Given the description of an element on the screen output the (x, y) to click on. 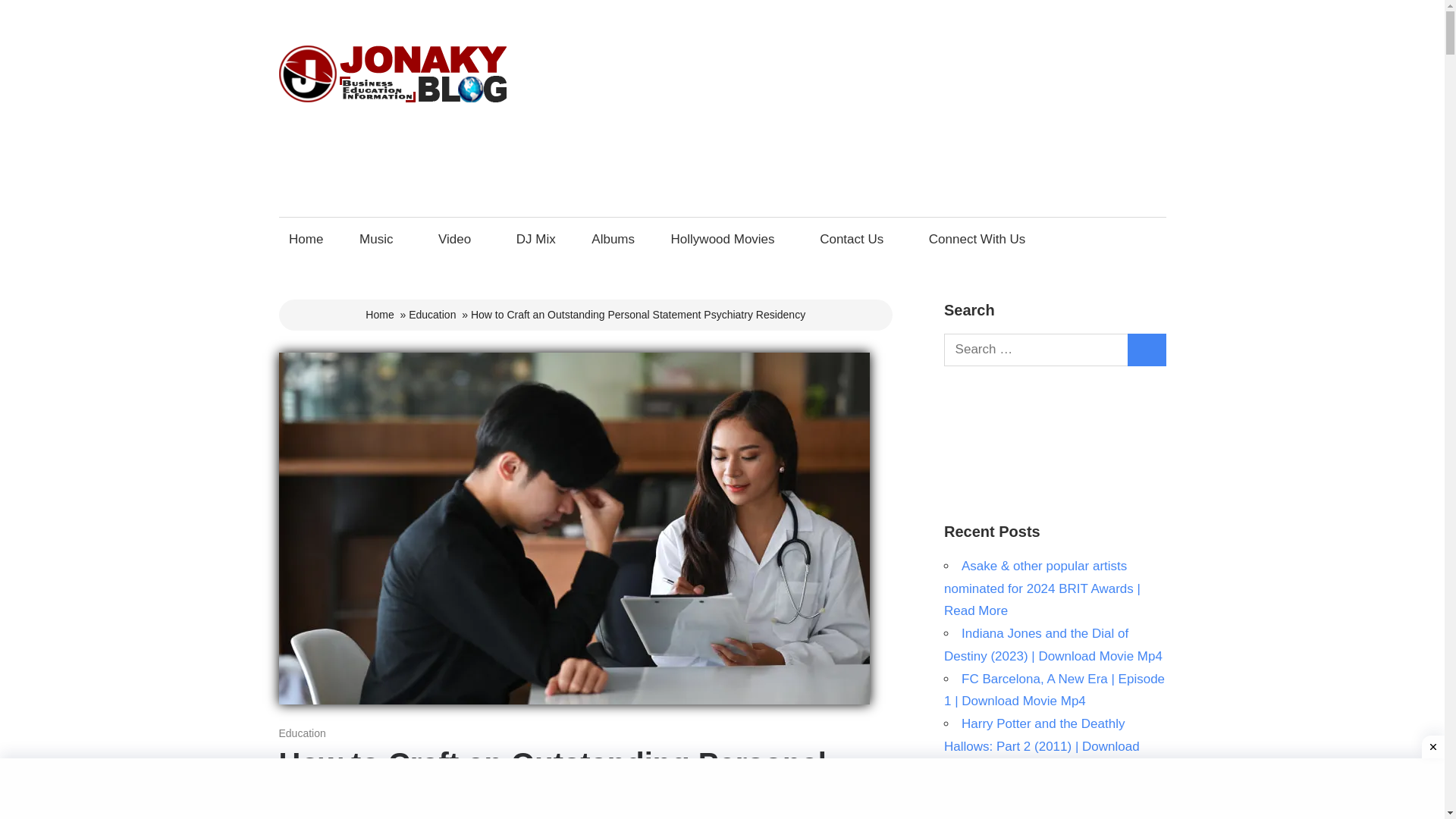
Go to the Education category archives. (432, 314)
Contact Us (855, 239)
11:42 pm (317, 733)
Home (306, 239)
Search for: (1035, 349)
Education (302, 733)
August 10, 2023 (317, 733)
Go to Home. (379, 314)
Hollywood Movies (727, 239)
Connect With Us (981, 239)
Albums (612, 239)
Music (380, 239)
Education (432, 314)
DJ Mix (535, 239)
